Given the description of an element on the screen output the (x, y) to click on. 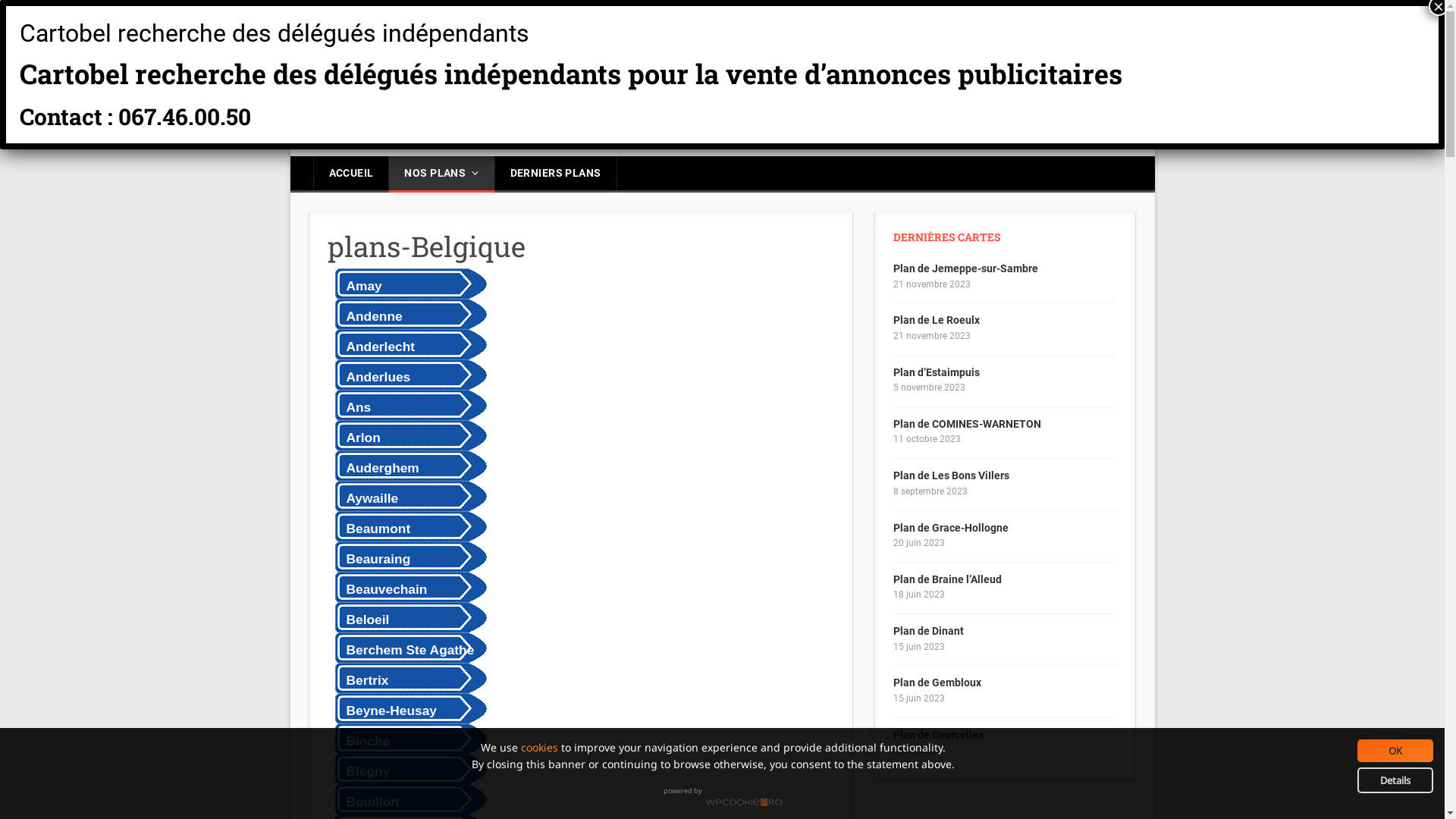
Binche Element type: text (406, 738)
Plan de Gembloux Element type: text (937, 682)
Berchem Ste Agathe Element type: text (406, 647)
Bouillon Element type: text (406, 799)
Plan de Grace-Hollogne Element type: text (950, 527)
Amay Element type: text (406, 283)
Andenne Element type: text (406, 313)
Plan de Dinant Element type: text (928, 630)
Beyne-Heusay Element type: text (406, 708)
Anderlues Element type: text (406, 374)
Details Element type: text (1395, 780)
WPCookiePro Element type: text (743, 801)
Plan de Le Roeulx Element type: text (936, 319)
Plan de Jemeppe-sur-Sambre Element type: text (965, 268)
Ans Element type: text (406, 404)
Plan de Courcelles Element type: text (938, 734)
ACCUEIL Element type: text (351, 174)
Bertrix Element type: text (406, 677)
Blegny Element type: text (406, 768)
Auderghem Element type: text (406, 465)
Aywaille Element type: text (406, 495)
DERNIERS PLANS Element type: text (555, 174)
Beauraing Element type: text (406, 556)
Plan de Les Bons ViIlers Element type: text (951, 475)
Plan de COMINES-WARNETON Element type: text (967, 423)
OK Element type: text (1395, 750)
Beaumont Element type: text (406, 526)
Anderlecht Element type: text (406, 344)
Beauvechain Element type: text (406, 586)
Beloeil Element type: text (406, 617)
Arlon Element type: text (406, 435)
NOS PLANS Element type: text (441, 174)
